Given the description of an element on the screen output the (x, y) to click on. 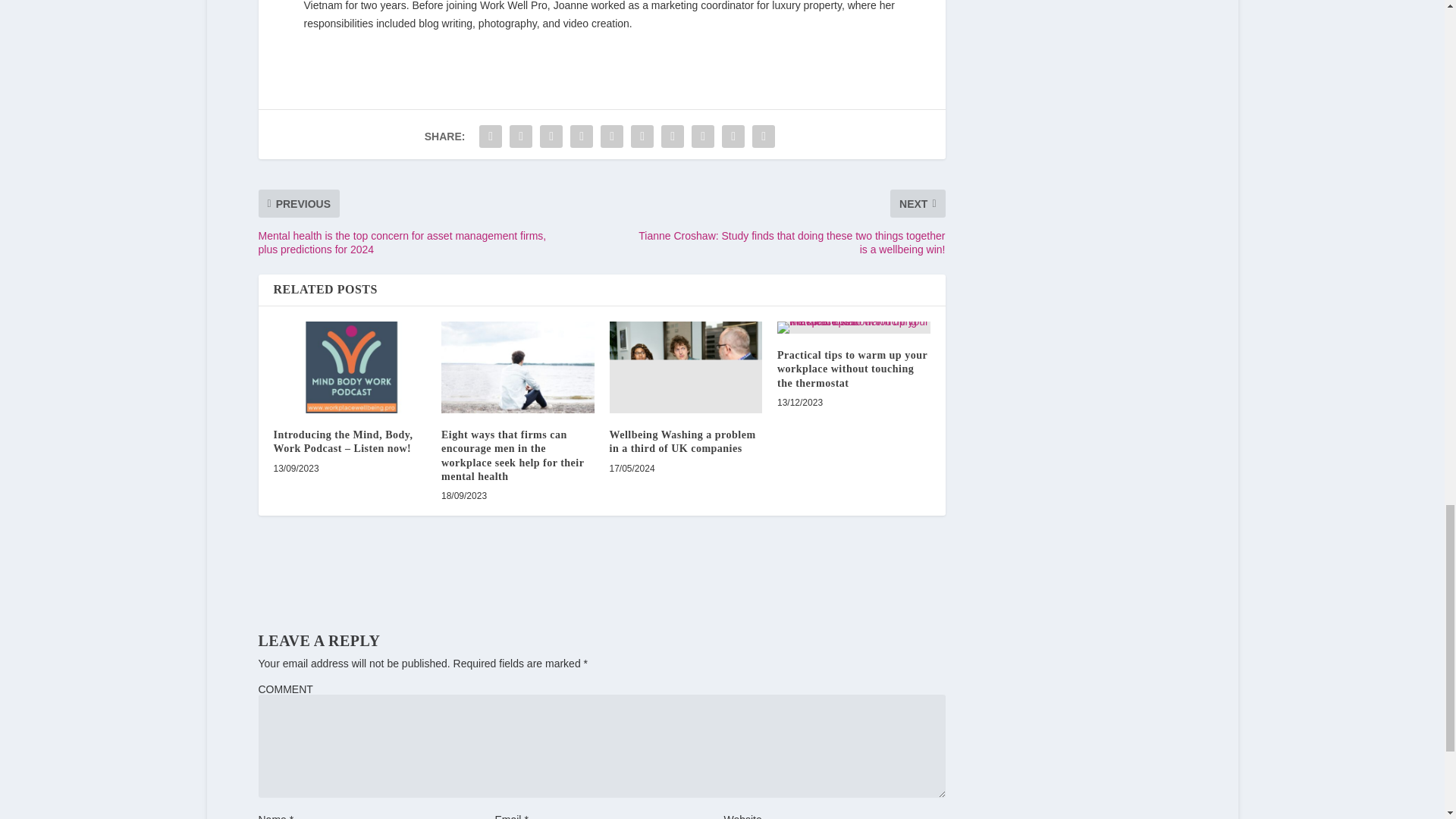
Share "Compliance professional workload exposed" via Print (763, 136)
Share "Compliance professional workload exposed" via Twitter (520, 136)
Share "Compliance professional workload exposed" via Tumblr (581, 136)
Share "Compliance professional workload exposed" via Email (732, 136)
Share "Compliance professional workload exposed" via Buffer (672, 136)
